Given the description of an element on the screen output the (x, y) to click on. 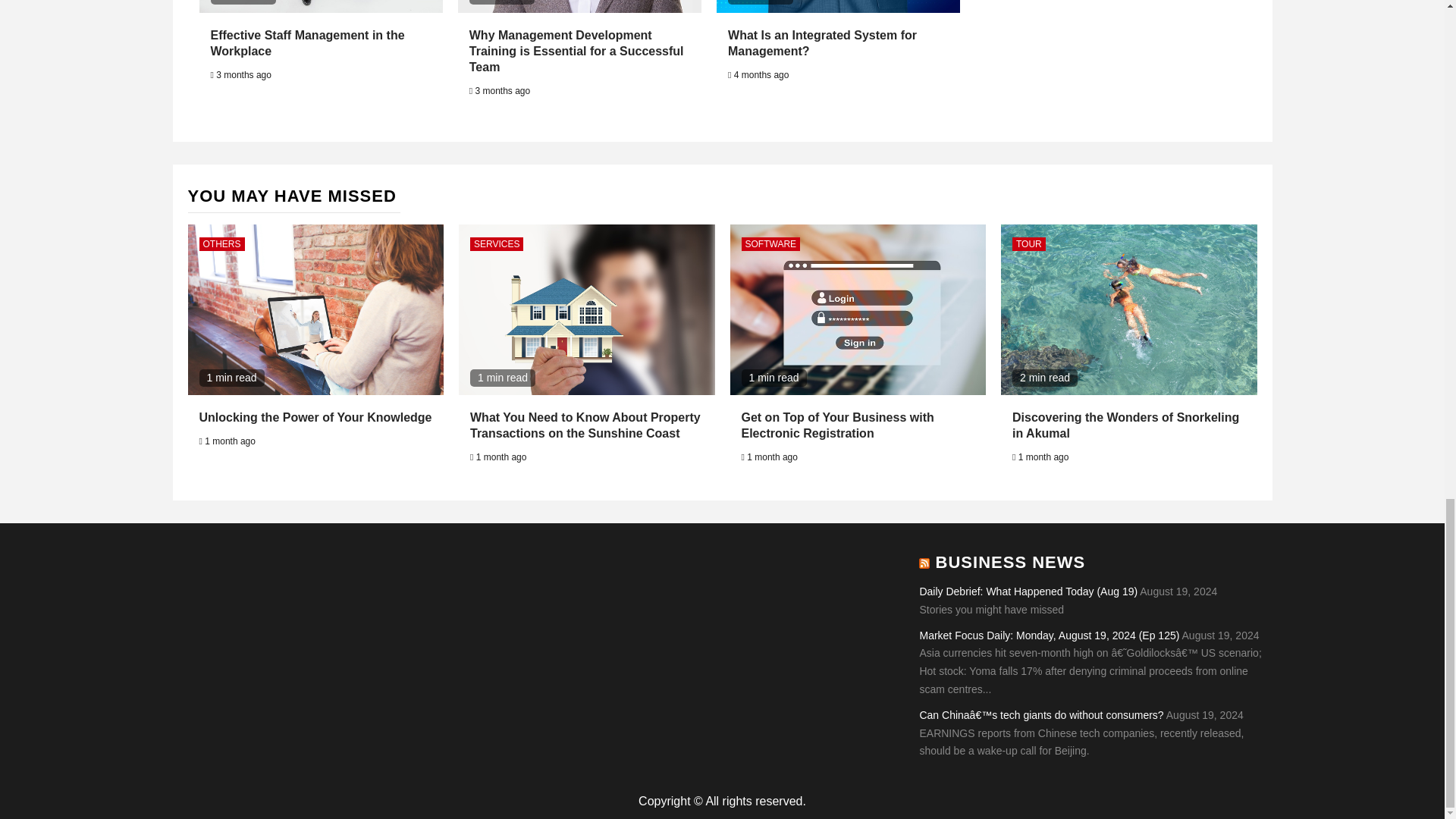
Effective Staff Management in the Workplace (307, 42)
Unlocking the Power of Your Knowledge (314, 417)
TOUR (1028, 243)
Get on Top of Your Business with Electronic Registration (837, 425)
BUSINESS NEWS (1011, 561)
What Is an Integrated System for Management? (822, 42)
OTHERS (221, 243)
Discovering the Wonders of Snorkeling in Akumal (1125, 425)
